Given the description of an element on the screen output the (x, y) to click on. 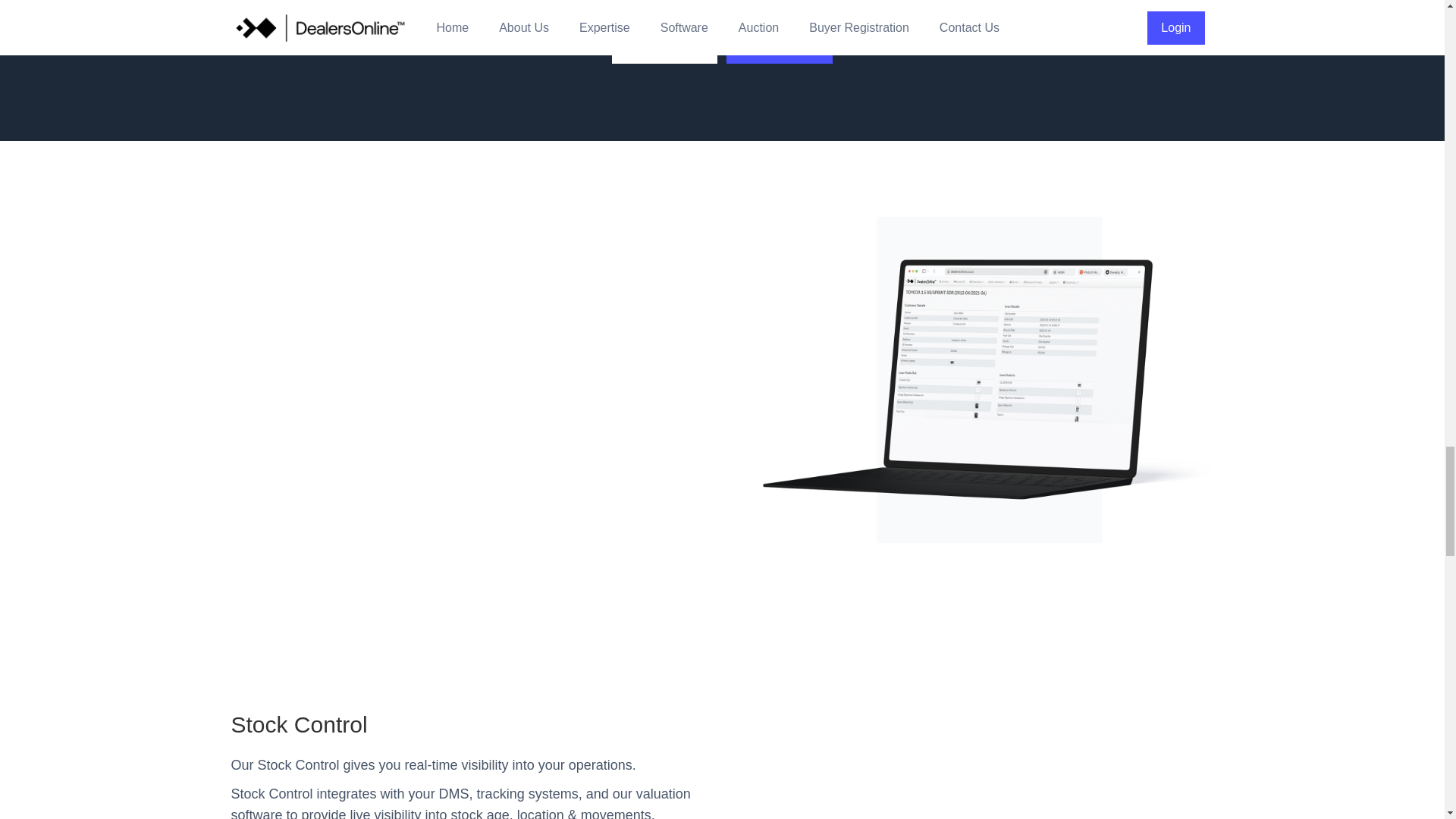
Auction Login (779, 46)
Buyer Registration (664, 46)
